Given the description of an element on the screen output the (x, y) to click on. 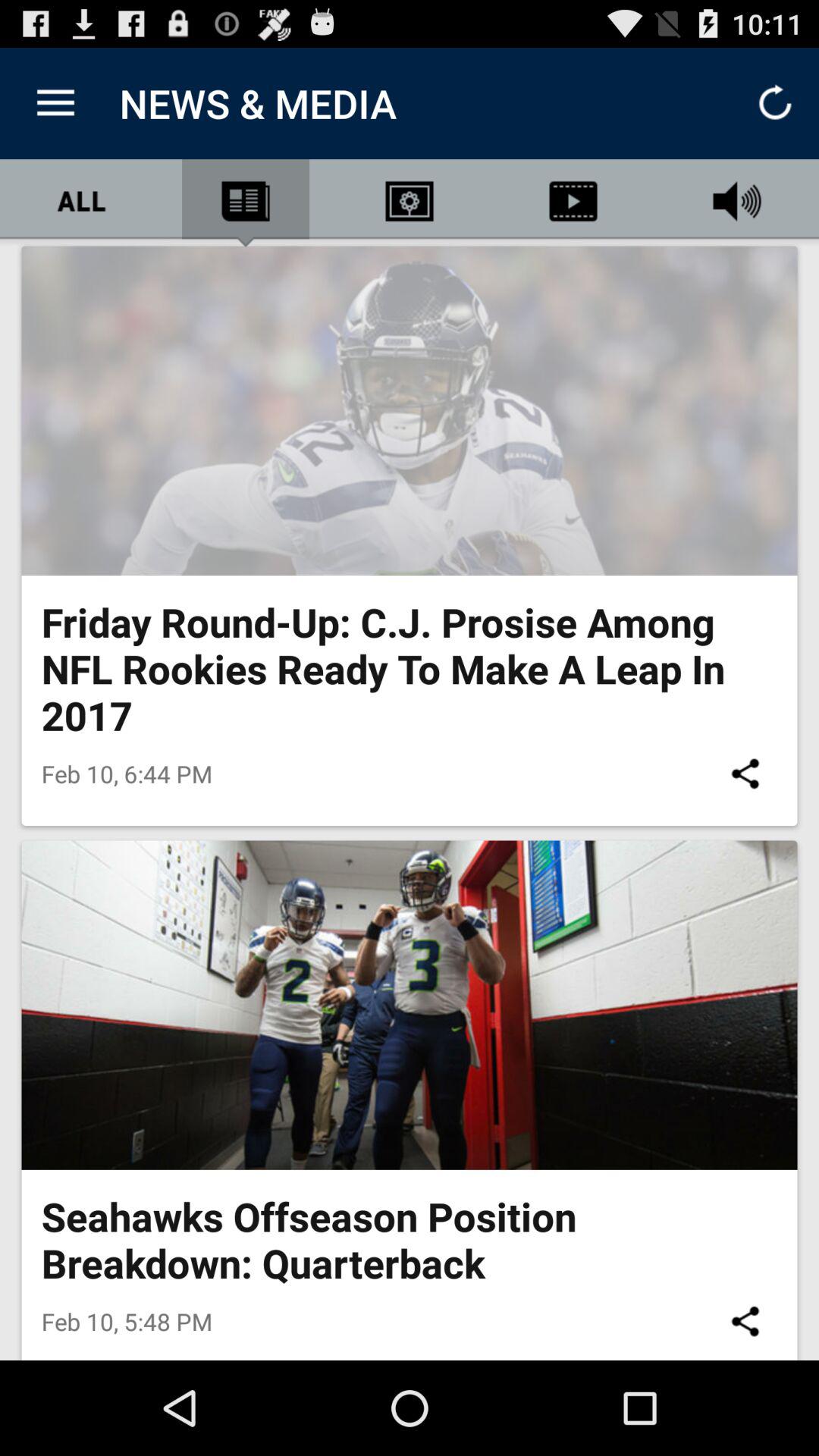
choose the item next to news & media icon (55, 103)
